Given the description of an element on the screen output the (x, y) to click on. 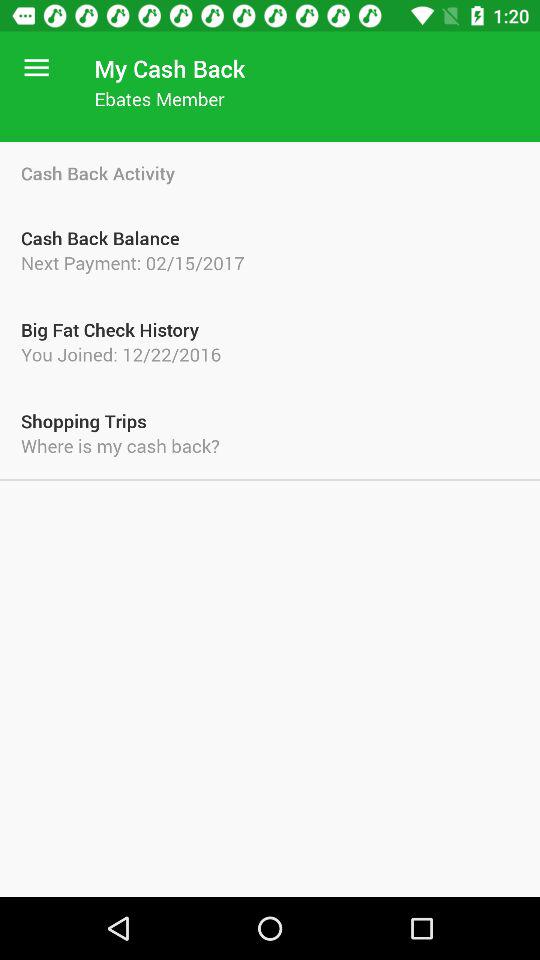
turn on the item above the cash back activity (36, 68)
